Given the description of an element on the screen output the (x, y) to click on. 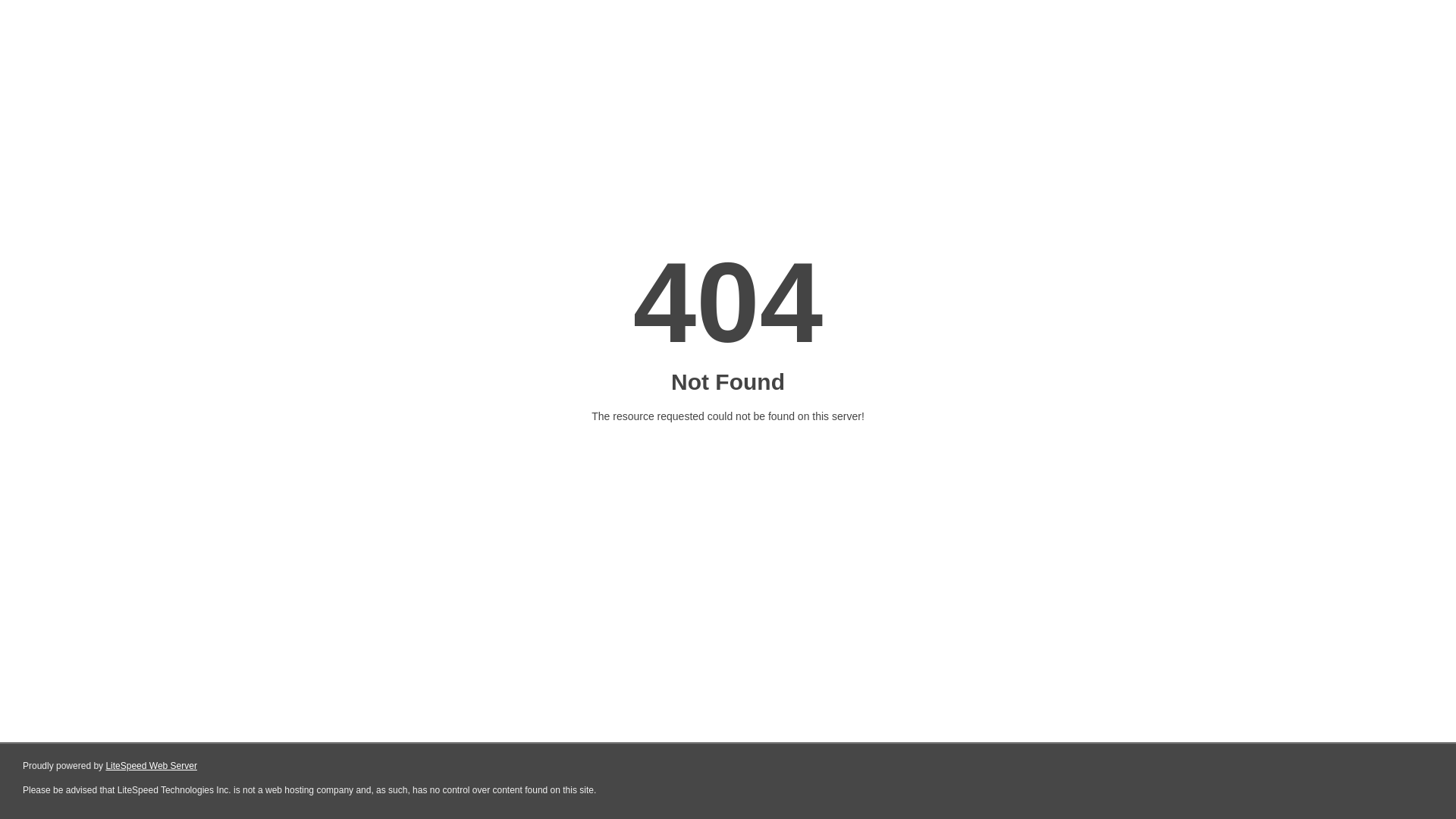
LiteSpeed Web Server Element type: text (151, 765)
